Given the description of an element on the screen output the (x, y) to click on. 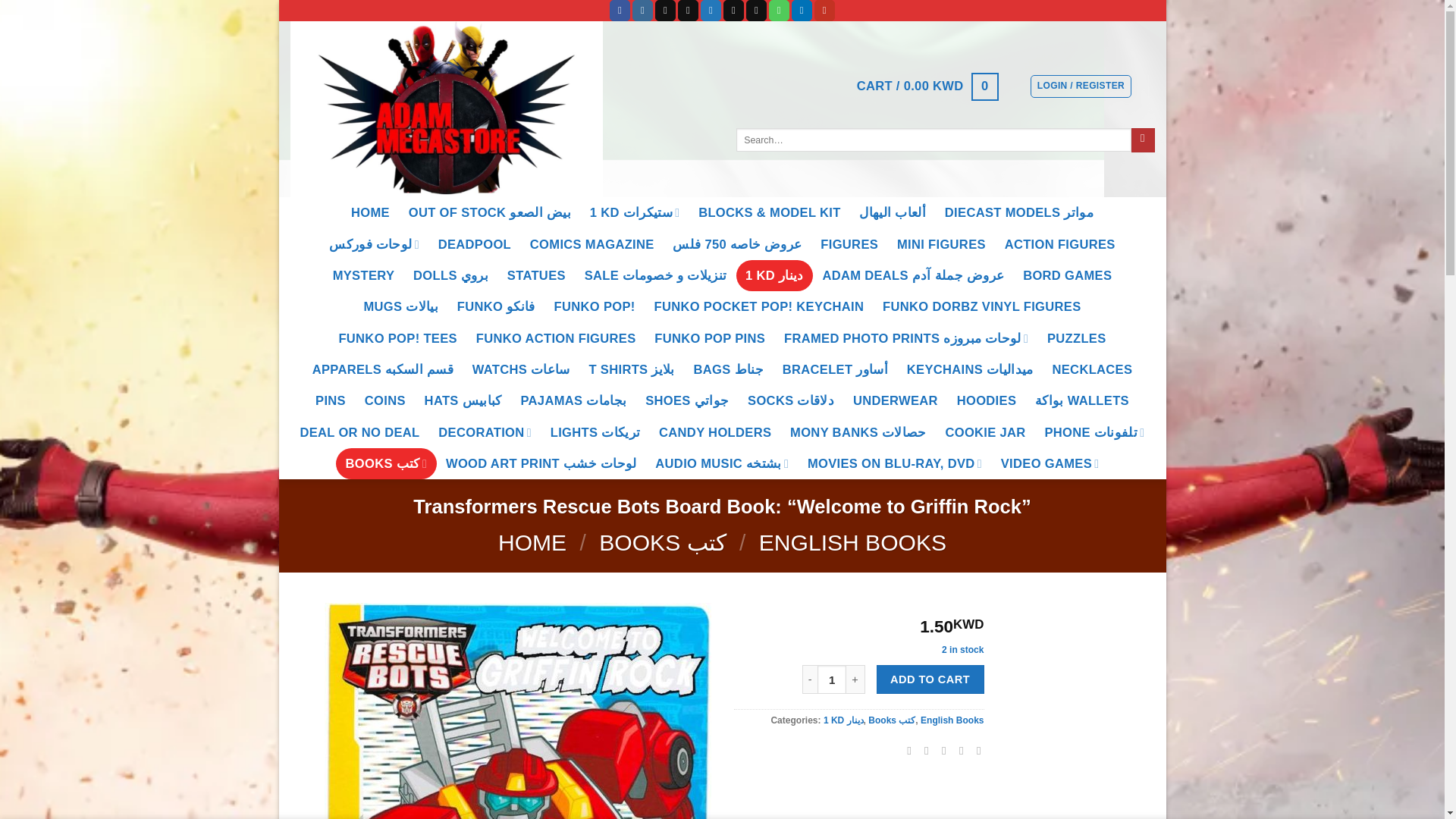
Follow on TikTok (665, 10)
Call us (778, 10)
Follow on YouTube (823, 10)
1 (830, 679)
HOME (370, 212)
Follow on Threads (733, 10)
Follow on Twitter (710, 10)
Send us an email (756, 10)
Follow on X (688, 10)
Follow on Facebook (620, 10)
